Given the description of an element on the screen output the (x, y) to click on. 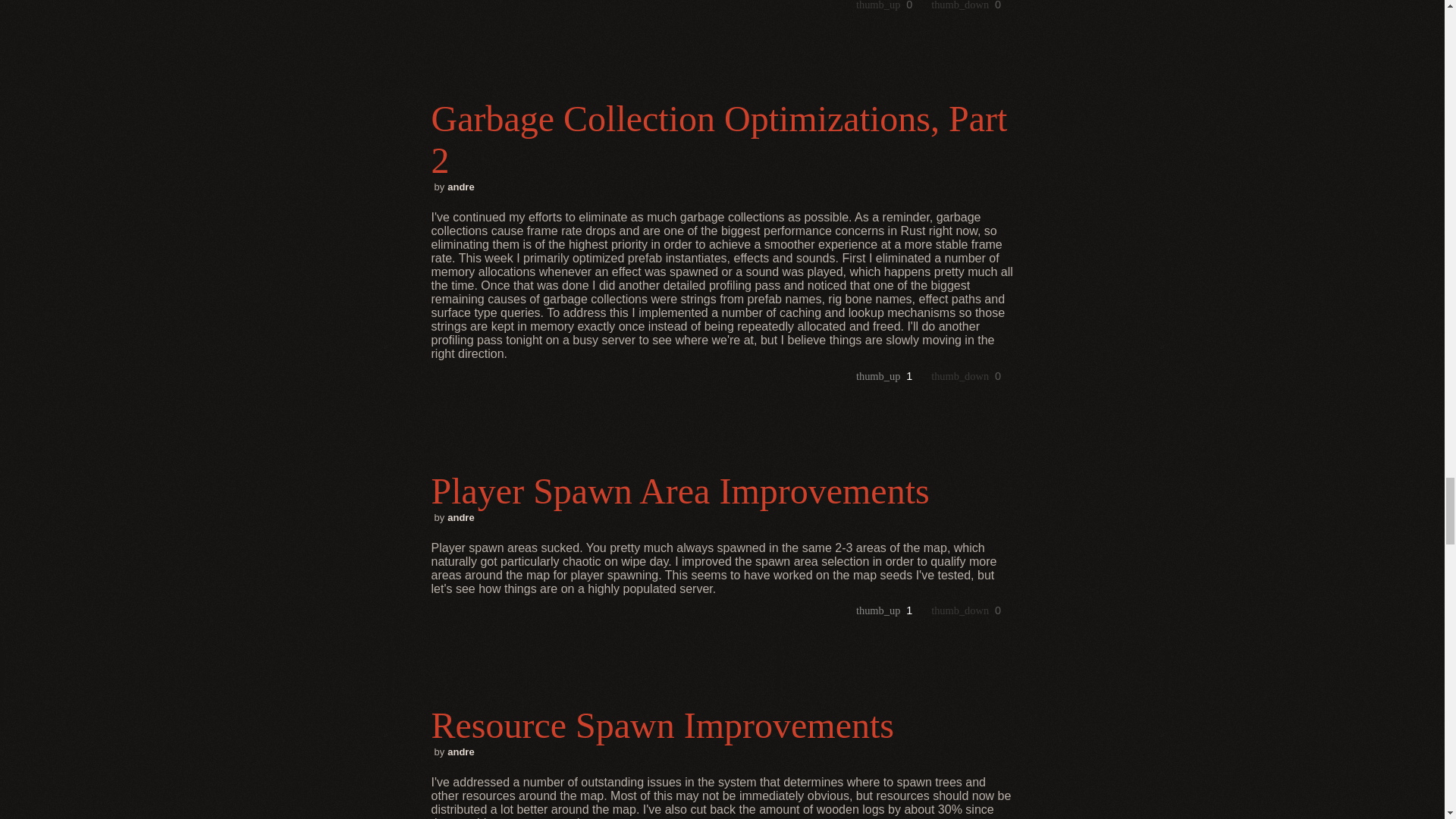
andre (460, 751)
andre (460, 186)
Resource Spawn Improvements (721, 725)
andre (460, 517)
Player Spawn Area Improvements (721, 490)
Garbage Collection Optimizations, Part 2 (721, 138)
